Given the description of an element on the screen output the (x, y) to click on. 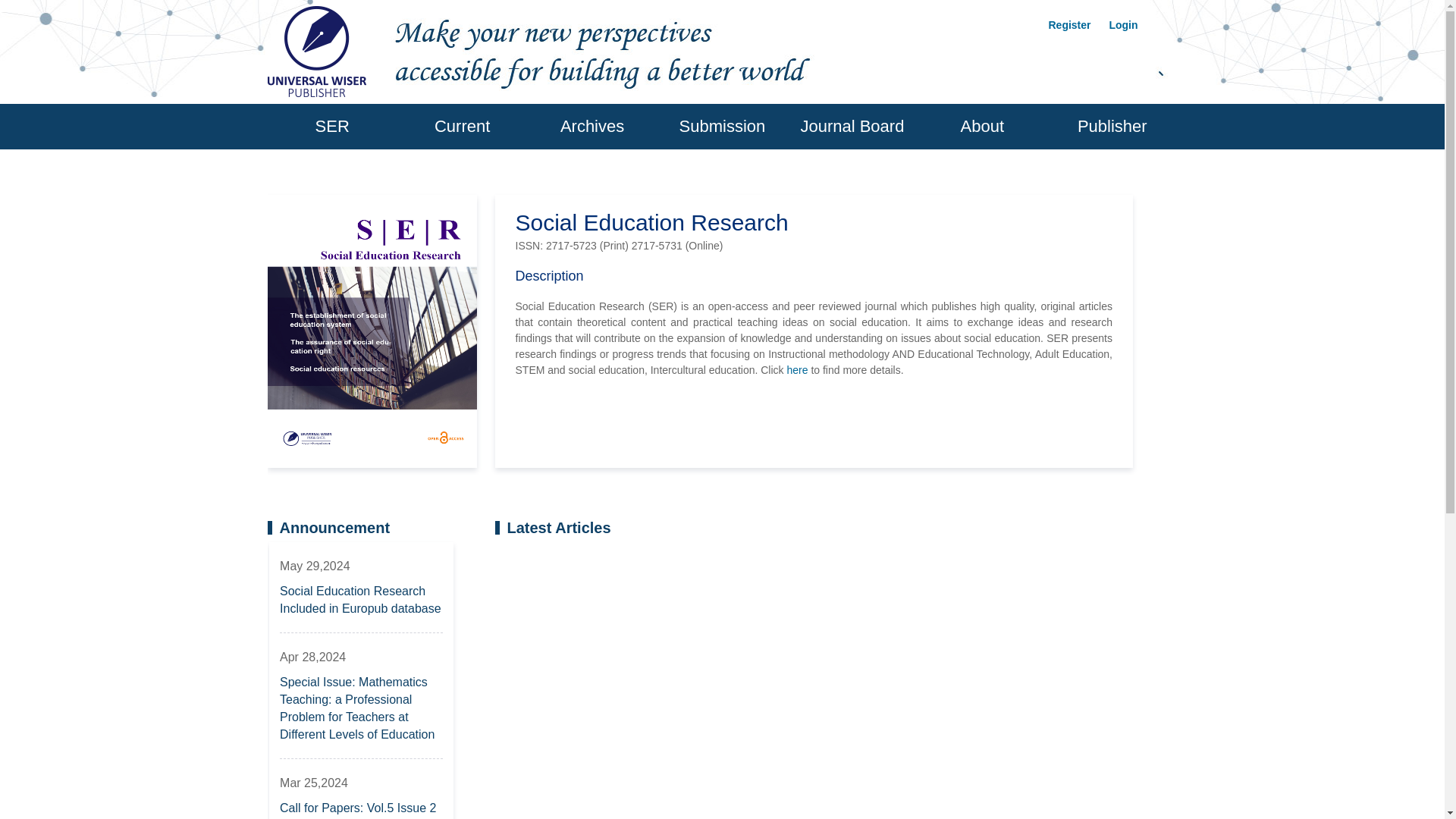
Login (1122, 24)
Current (462, 126)
here (797, 369)
Submission (722, 126)
Archives (591, 126)
SER (331, 126)
Publisher (1111, 126)
Journal Board (852, 126)
Register (1069, 24)
